Given the description of an element on the screen output the (x, y) to click on. 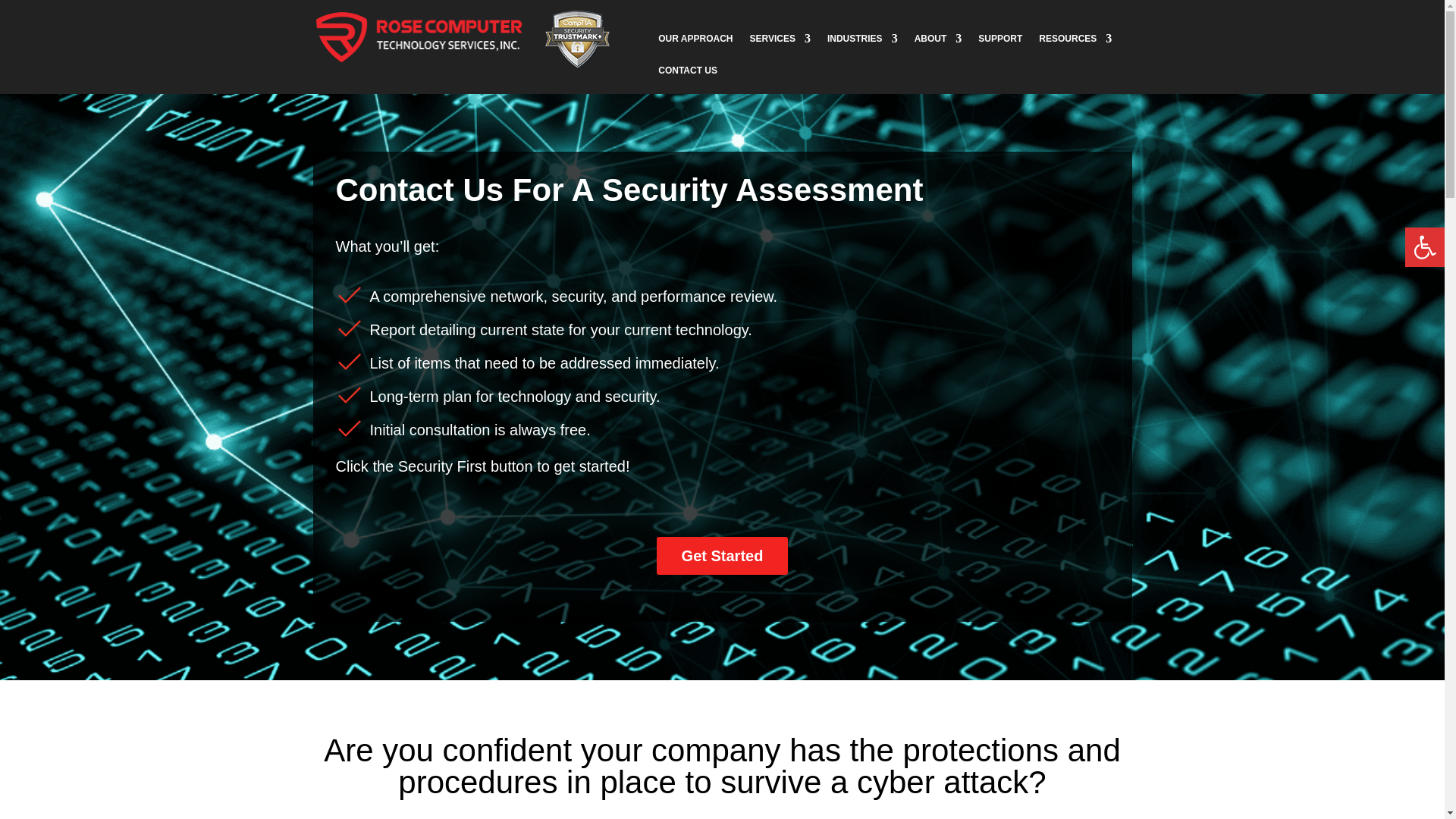
OUR APPROACH (695, 44)
SERVICES (779, 44)
CONTACT US (687, 76)
INDUSTRIES (862, 44)
RESOURCES (1075, 44)
SUPPORT (1000, 44)
ABOUT (938, 44)
Accessibility Tools (1424, 247)
